Given the description of an element on the screen output the (x, y) to click on. 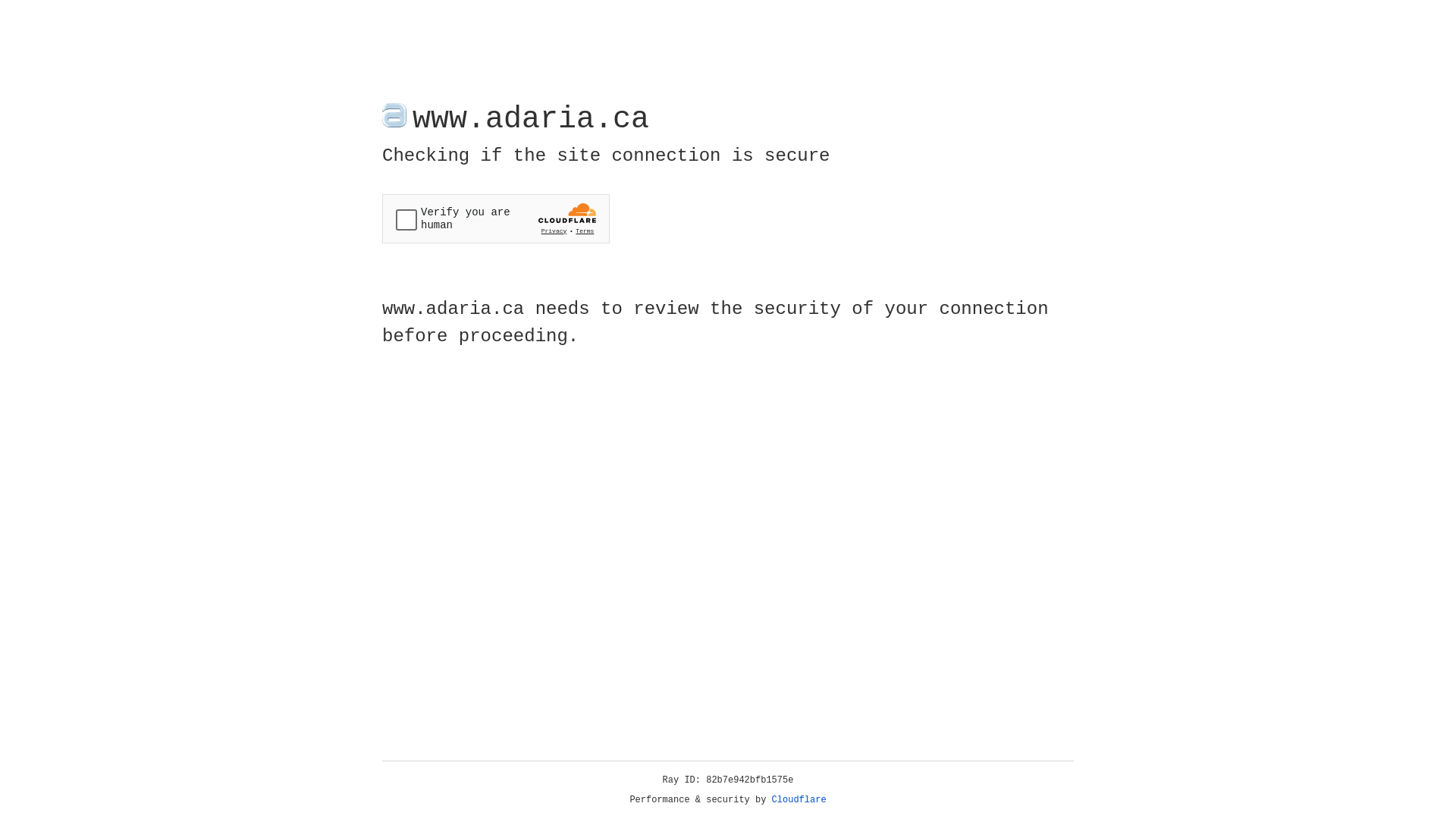
Cloudflare Element type: text (798, 799)
Widget containing a Cloudflare security challenge Element type: hover (495, 218)
